Given the description of an element on the screen output the (x, y) to click on. 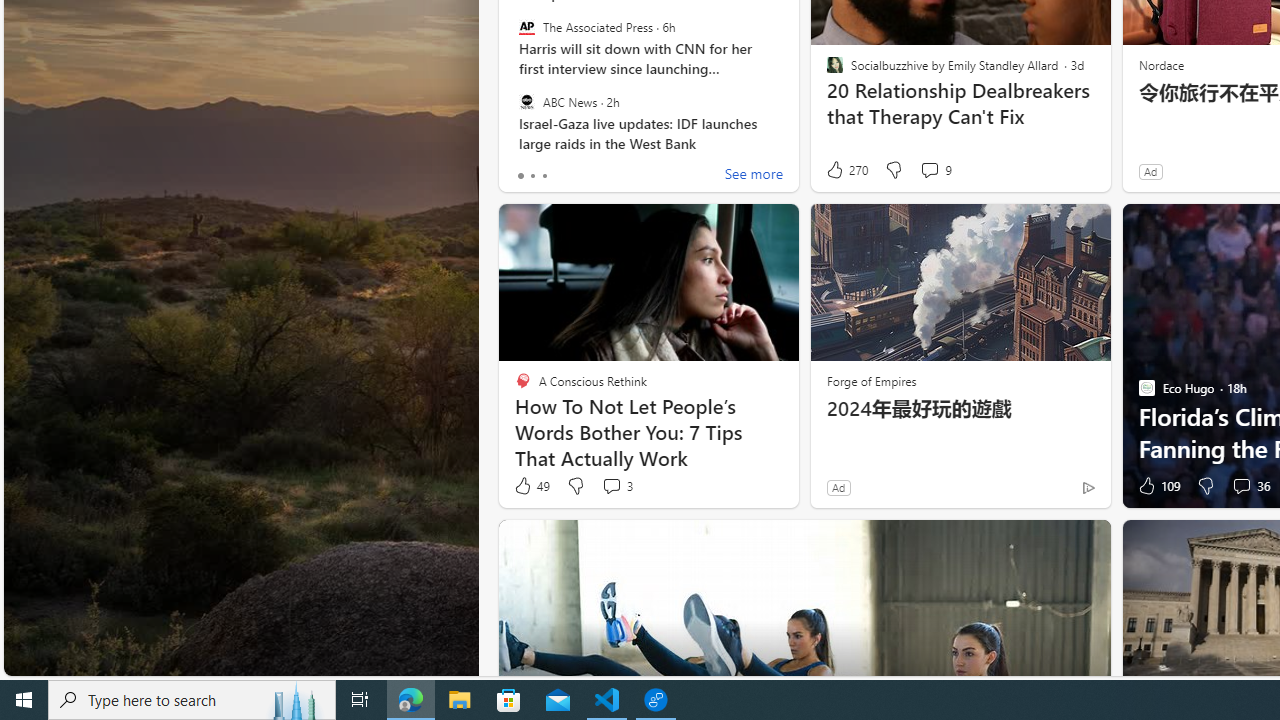
270 Like (845, 170)
View comments 36 Comment (1249, 485)
Forge of Empires (870, 380)
View comments 3 Comment (616, 485)
View comments 9 Comment (935, 170)
View comments 9 Comment (929, 169)
